Given the description of an element on the screen output the (x, y) to click on. 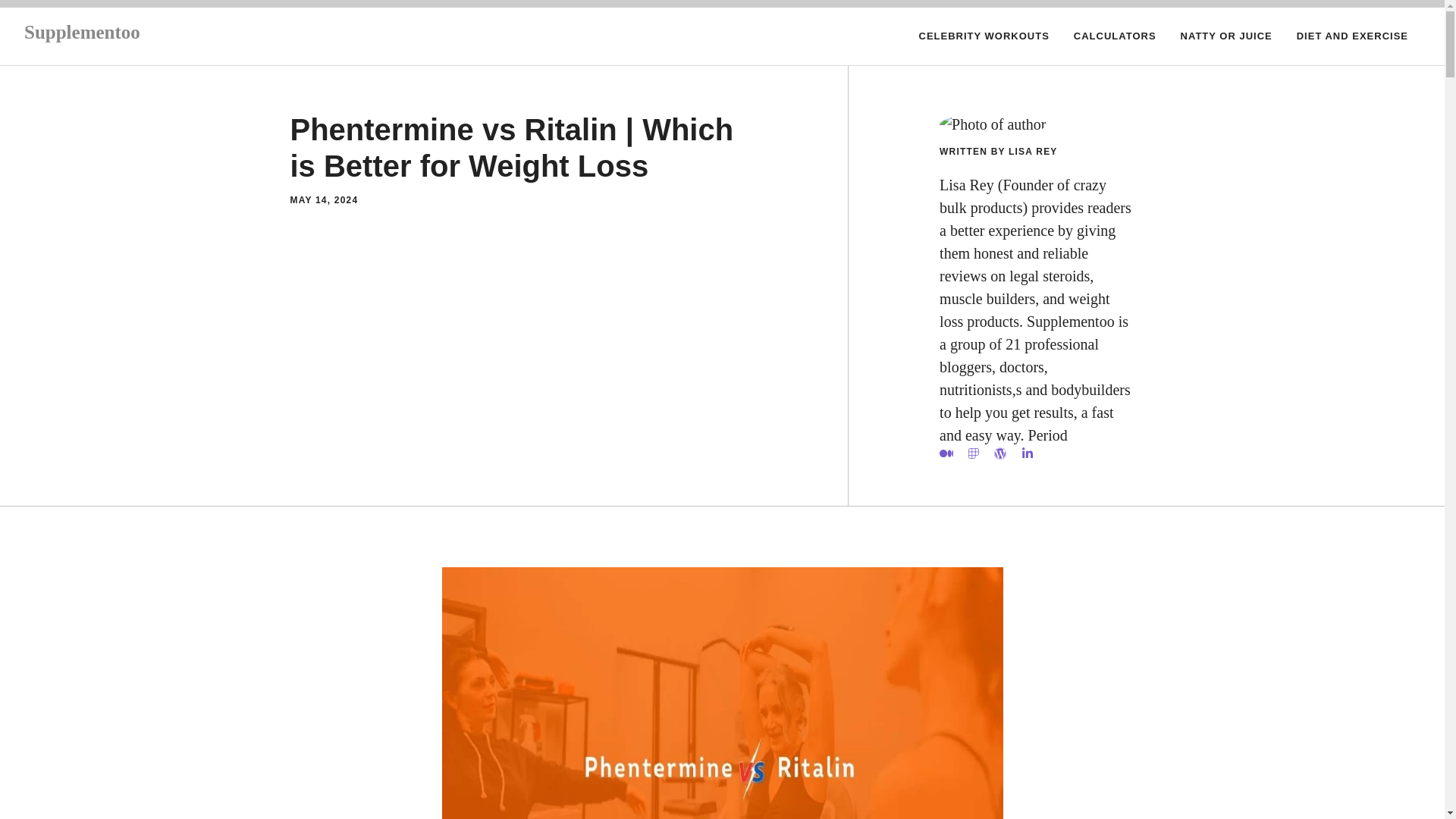
DIET AND EXERCISE (1352, 35)
CELEBRITY WORKOUTS (984, 35)
NATTY OR JUICE (1226, 35)
CALCULATORS (1115, 35)
Supplementoo (81, 32)
